Given the description of an element on the screen output the (x, y) to click on. 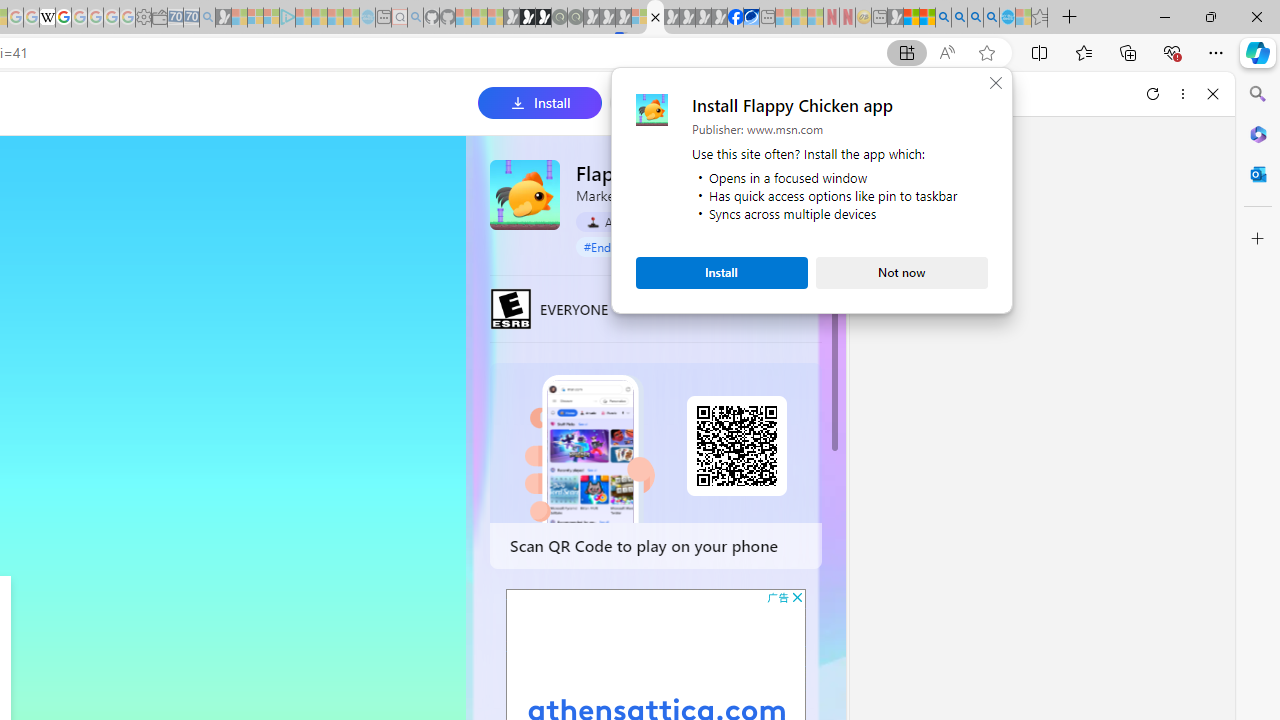
Play Zoo Boom in your browser | Games from Microsoft Start (527, 17)
2009 Bing officially replaced Live Search on June 3 - Search (959, 17)
Target page - Wikipedia (47, 17)
Flappy Chicken (525, 194)
Sign in to your account - Sleeping (639, 17)
Future Focus Report 2024 - Sleeping (575, 17)
